Given the description of an element on the screen output the (x, y) to click on. 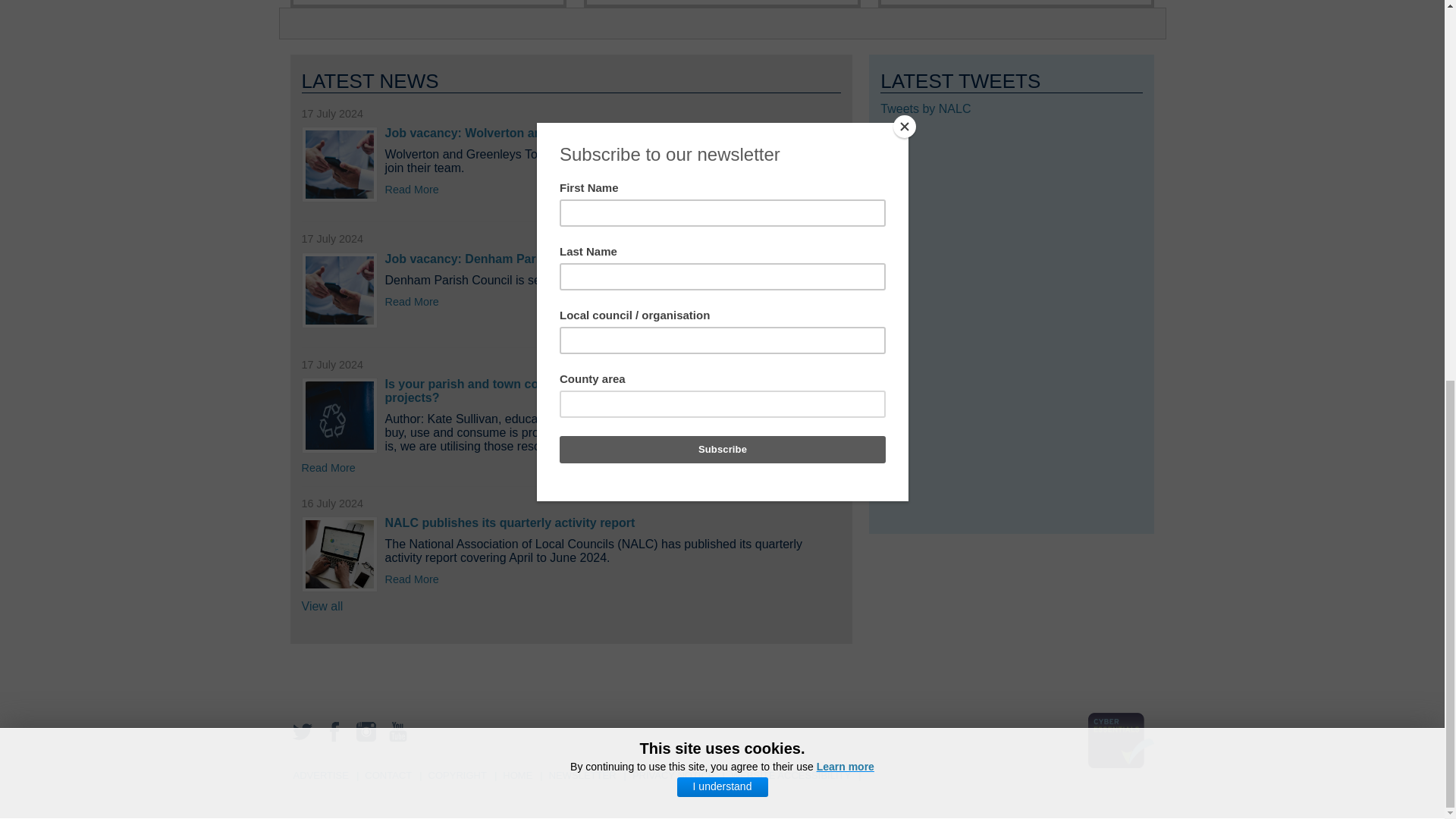
REPORT (339, 554)
luis-villasmil-4V8uMZx8FYA-unsplash (339, 164)
Job vacancy: Denham Parish Council (493, 258)
rivage-aI4RJ--Mw4I-unsplash (339, 415)
Job vacancy: Wolverton and Greenleys Town Council (539, 132)
luis-villasmil-4V8uMZx8FYA-unsplash (339, 290)
